Given the description of an element on the screen output the (x, y) to click on. 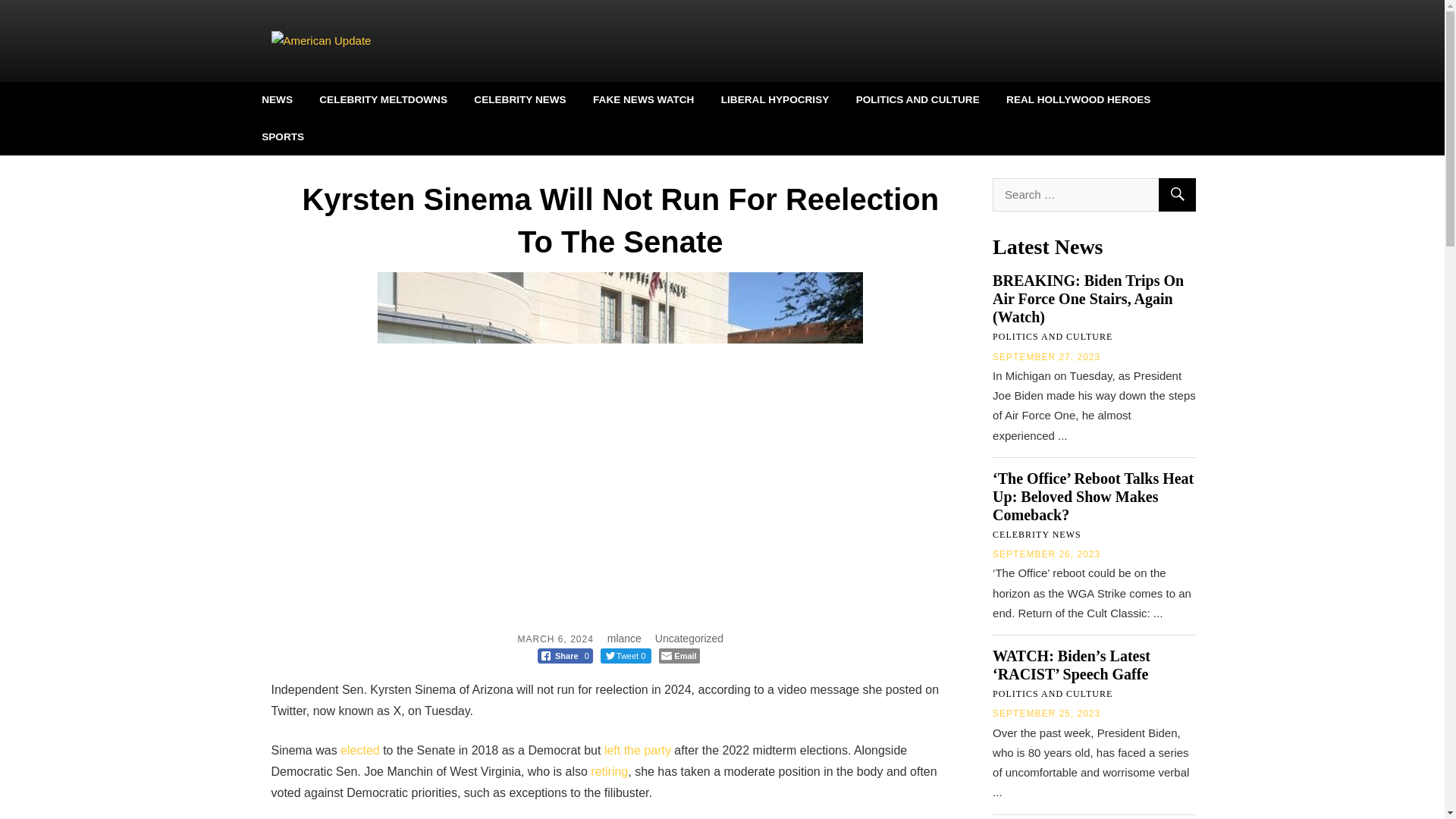
mlance (624, 638)
SPORTS (283, 136)
Tweet 0 (625, 655)
View all posts by mlance (624, 638)
NEWS (277, 99)
CELEBRITY NEWS (520, 99)
CELEBRITY MELTDOWNS (382, 99)
left the party (637, 749)
Share 0 (564, 655)
elected (360, 749)
MARCH 6, 2024 (554, 638)
POLITICS AND CULTURE (917, 99)
REAL HOLLYWOOD HEROES (1078, 99)
Uncategorized (689, 638)
LIBERAL HYPOCRISY (774, 99)
